Given the description of an element on the screen output the (x, y) to click on. 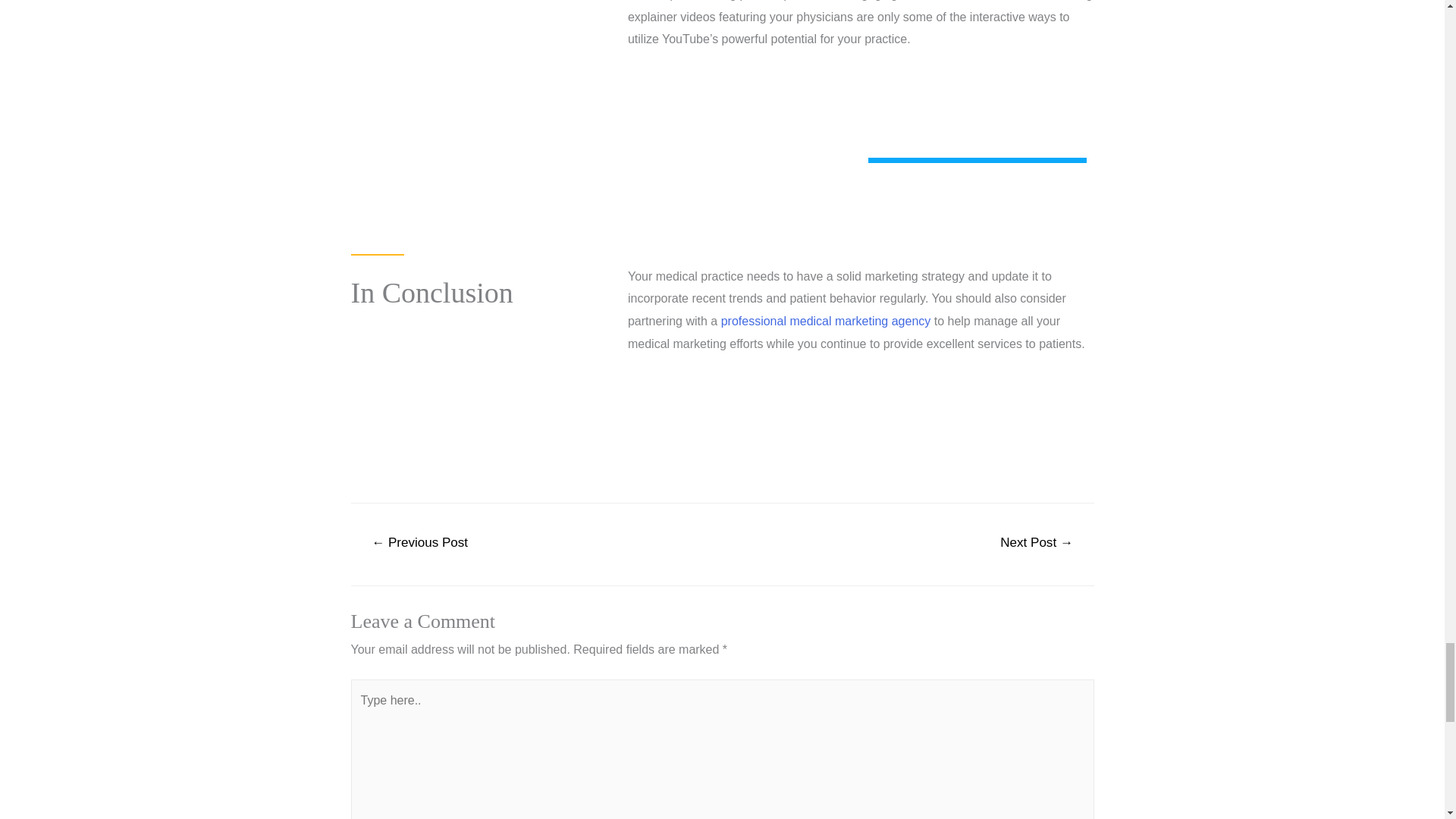
professional medical marketing agency (825, 320)
